Given the description of an element on the screen output the (x, y) to click on. 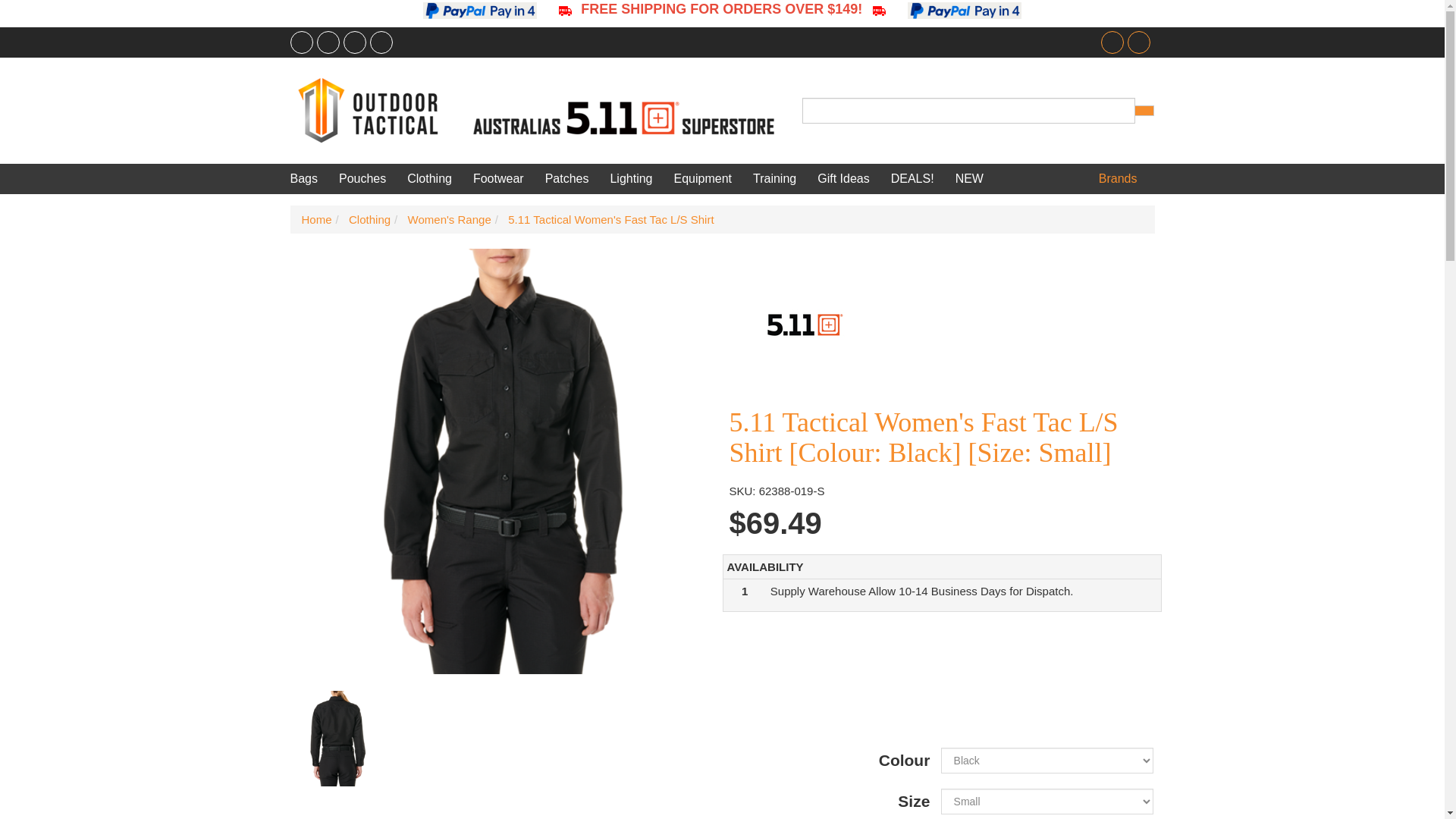
Bags (308, 178)
Outdoor Tactical Australia (536, 109)
Search (1144, 110)
5.11 Tactical (941, 324)
Pouches (362, 178)
Large View (337, 739)
